Given the description of an element on the screen output the (x, y) to click on. 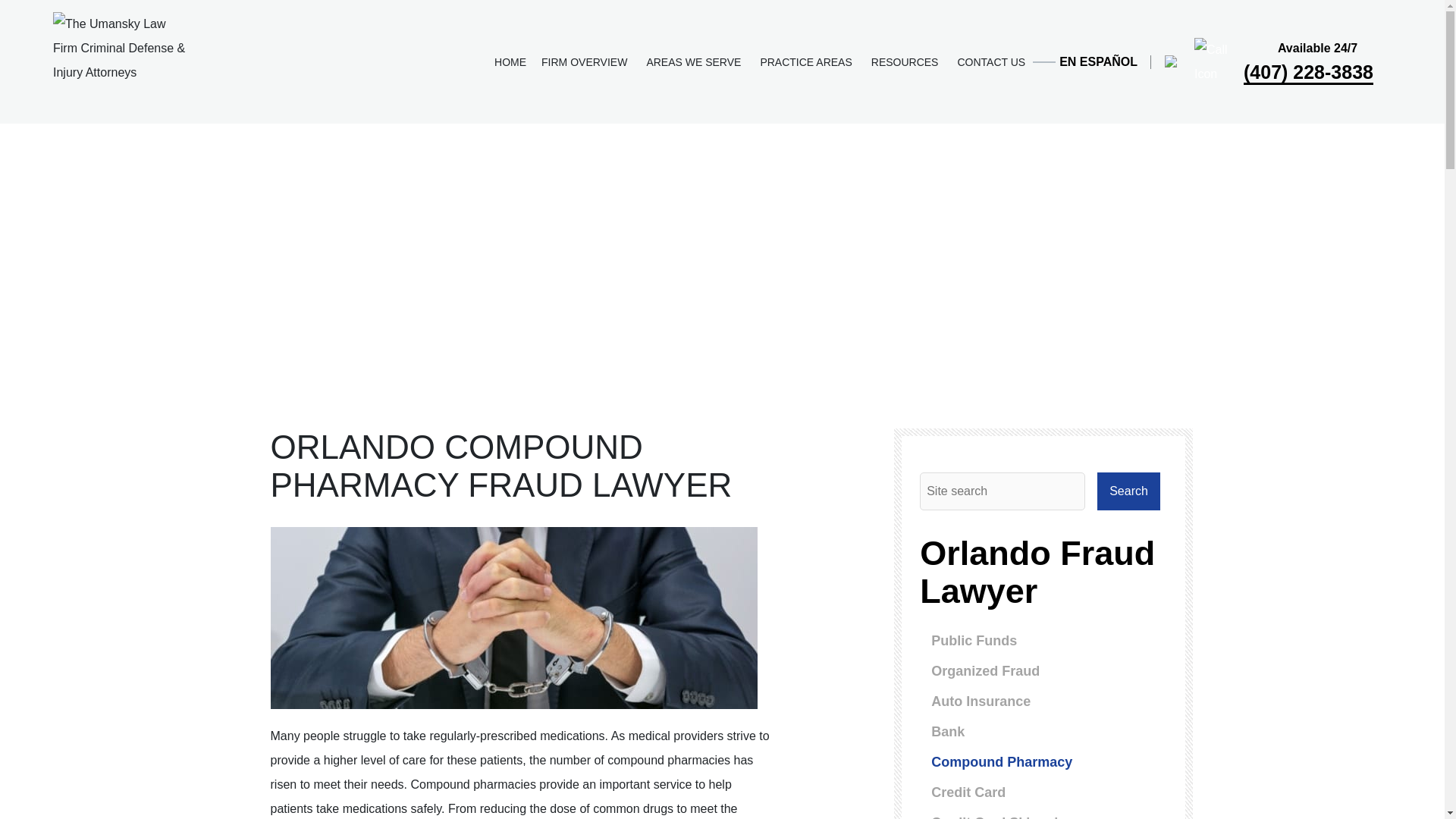
HOME (510, 61)
FIRM OVERVIEW (586, 61)
AREAS WE SERVE (695, 61)
Search (1128, 491)
Search (1128, 491)
